Given the description of an element on the screen output the (x, y) to click on. 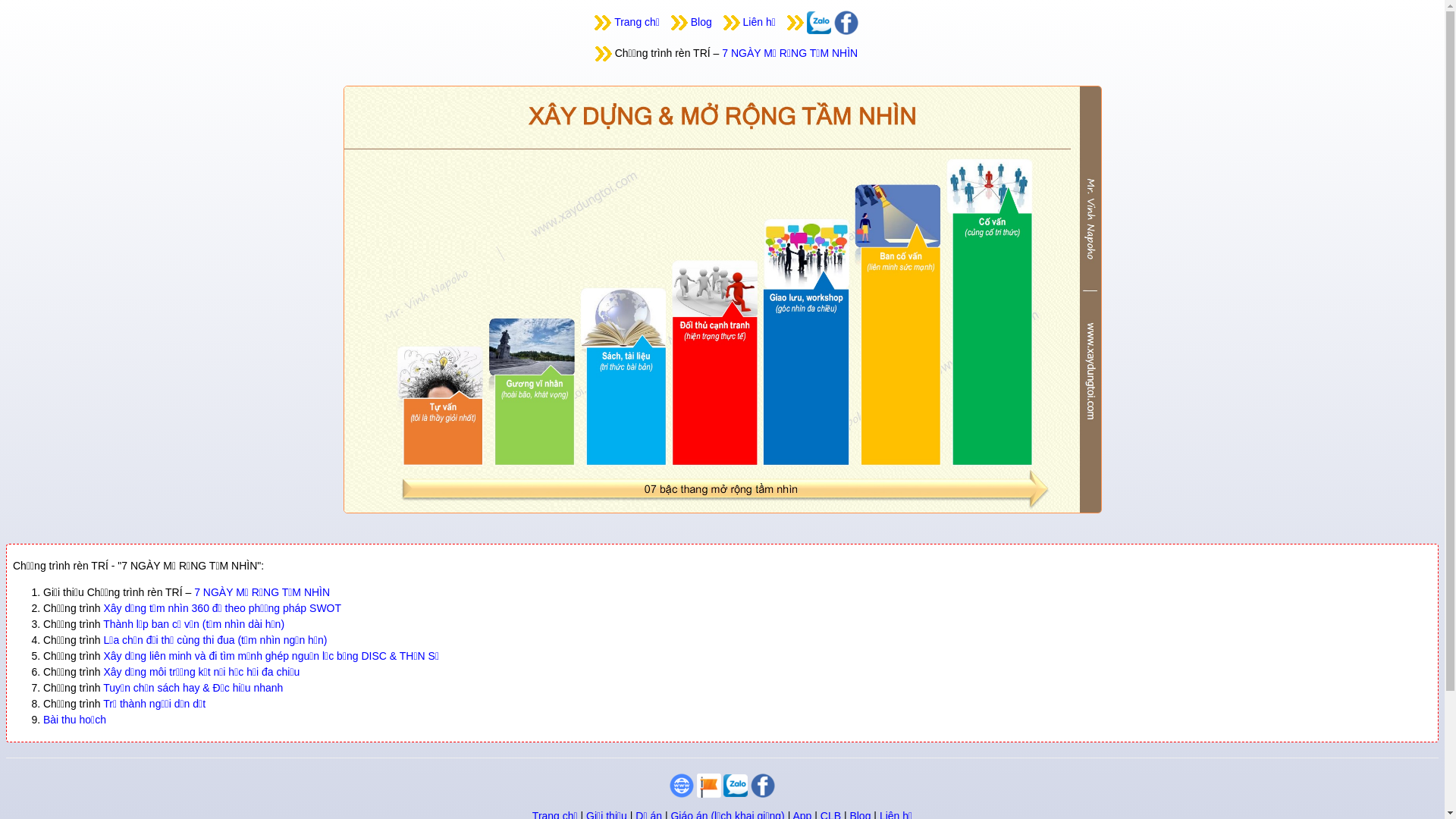
Fanpage Element type: hover (708, 784)
Group Facebook Element type: hover (846, 21)
Group Zalo Element type: hover (818, 21)
Group Facebook Element type: hover (762, 784)
Website Element type: hover (681, 784)
Group Zalo Element type: hover (735, 784)
Blog Element type: text (701, 21)
